Given the description of an element on the screen output the (x, y) to click on. 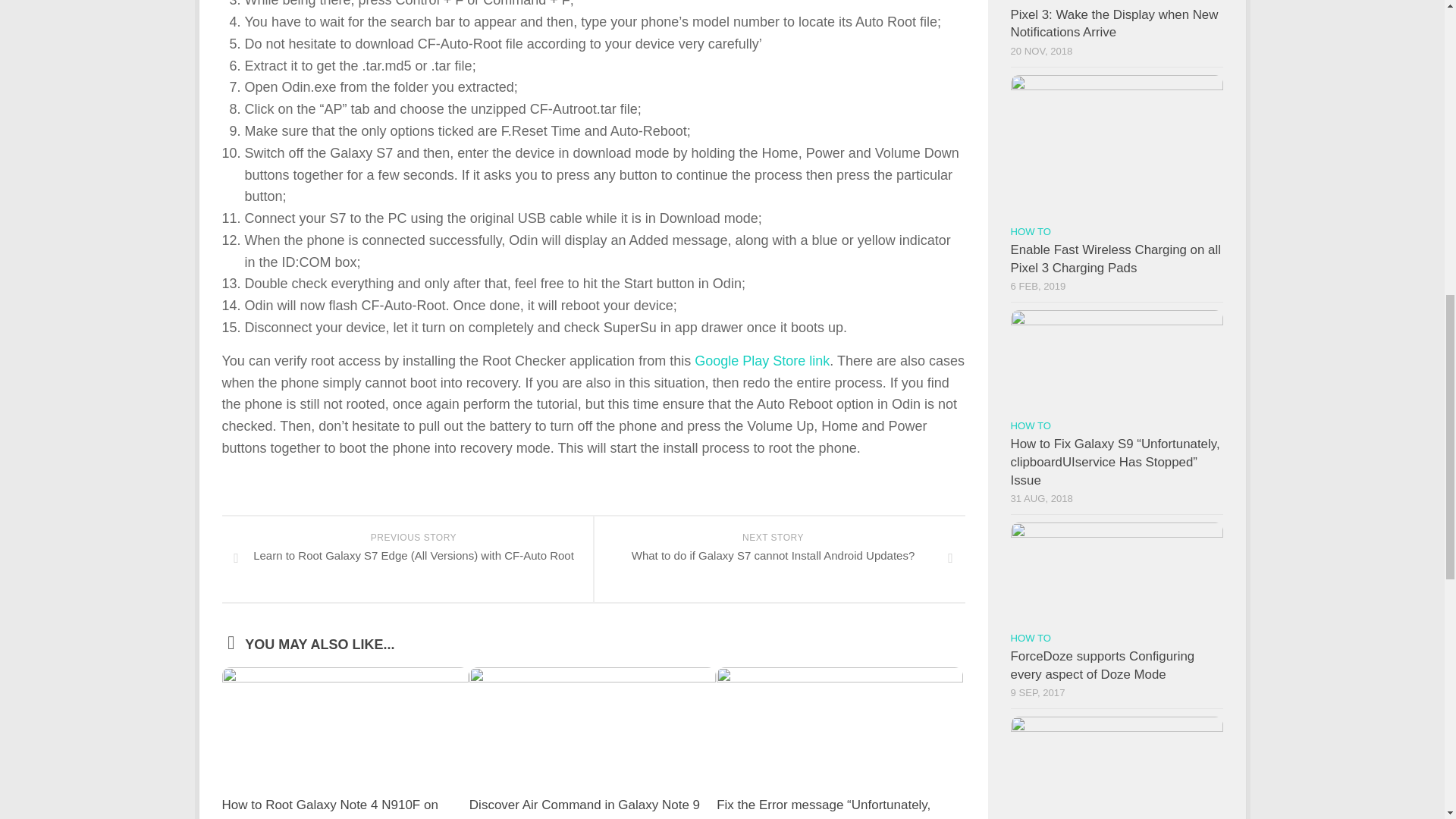
How to Root Galaxy Note 4 N910F on Android 5.1.1 Lollipop OS (329, 808)
Permalink to Discover Air Command in Galaxy Note 9 S Pen (584, 808)
Discover Air Command in Galaxy Note 9 S Pen (584, 808)
Google Play Store link (761, 360)
